Given the description of an element on the screen output the (x, y) to click on. 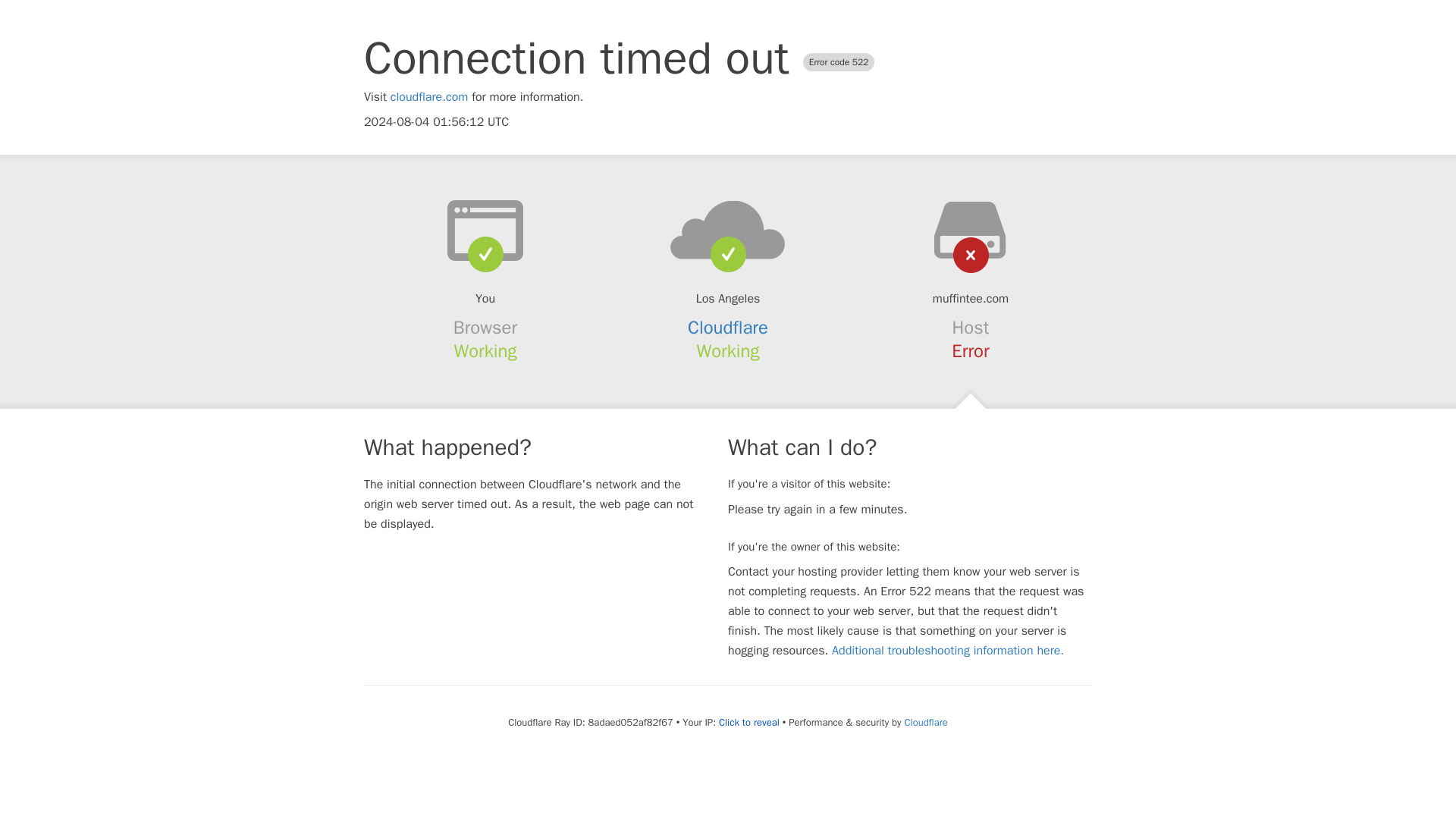
Additional troubleshooting information here. (947, 650)
Cloudflare (727, 327)
Click to reveal (748, 722)
cloudflare.com (429, 96)
Cloudflare (925, 721)
